Given the description of an element on the screen output the (x, y) to click on. 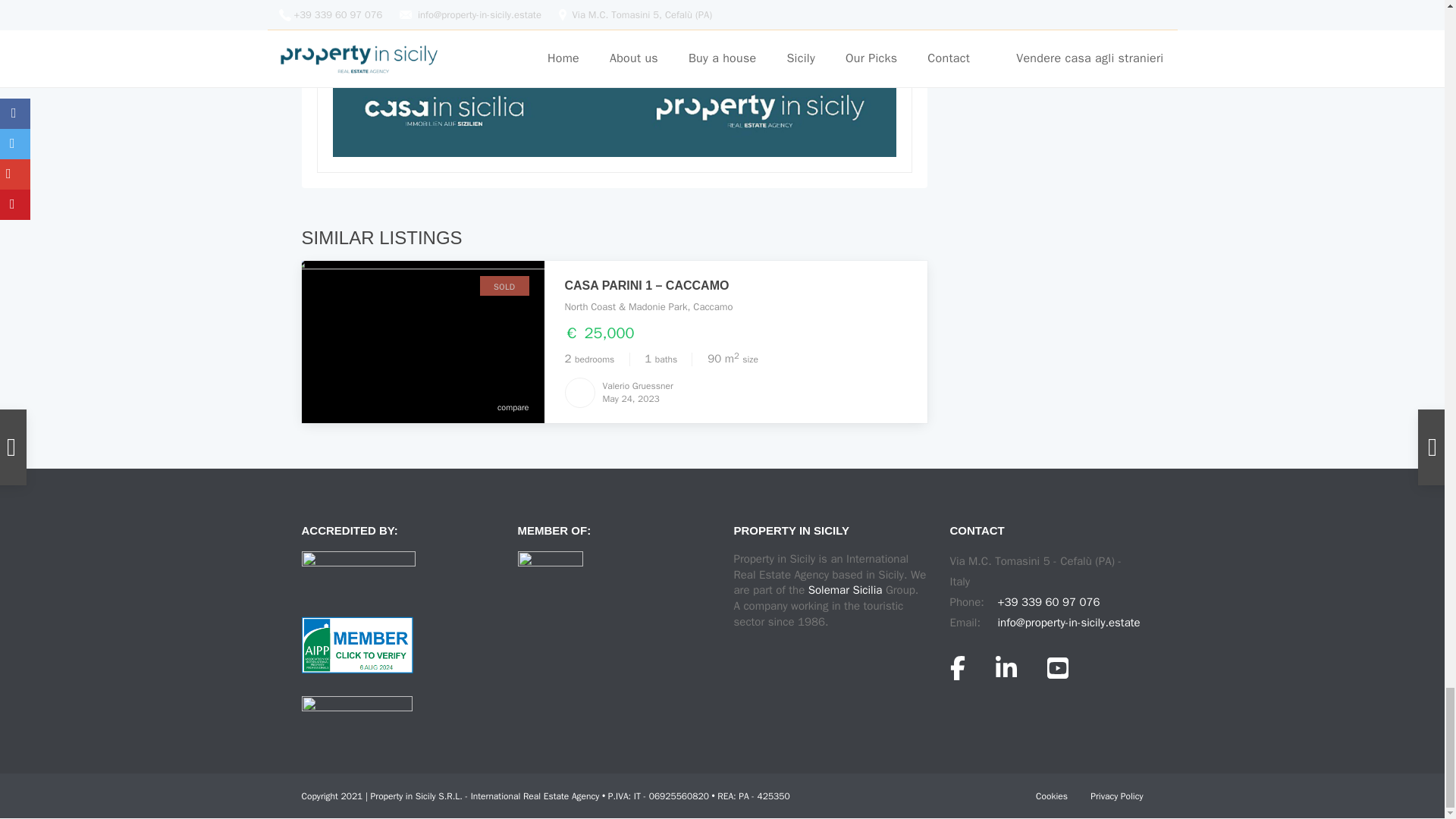
Accredited by: (357, 572)
